Given the description of an element on the screen output the (x, y) to click on. 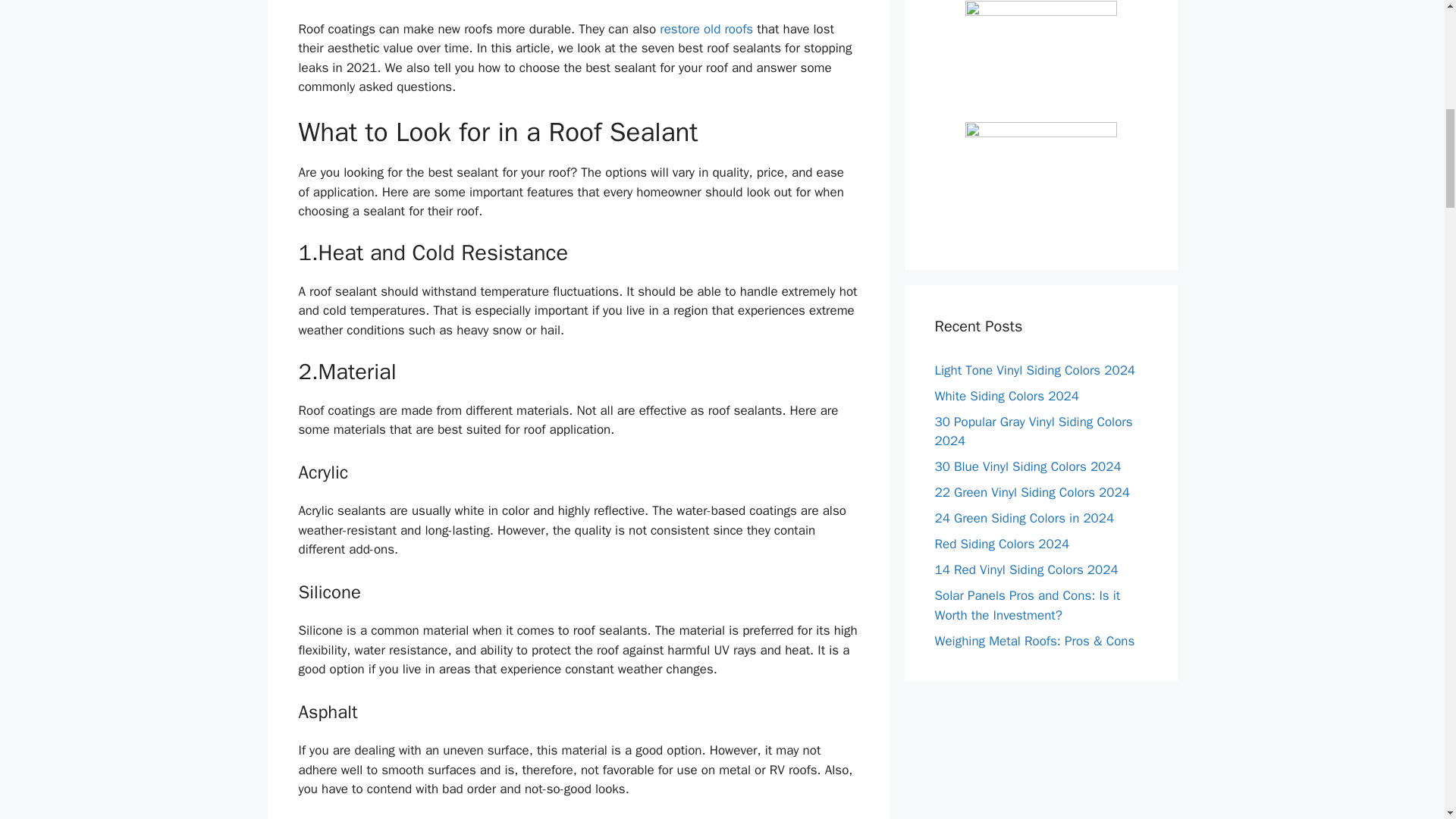
White Siding Colors 2024 (1006, 396)
Red Siding Colors 2024 (1001, 544)
24 Green Siding Colors in 2024 (1023, 518)
restore old roofs (704, 28)
30 Popular Gray Vinyl Siding Colors 2024 (1033, 431)
22 Green Vinyl Siding Colors 2024 (1031, 492)
Light Tone Vinyl Siding Colors 2024 (1034, 370)
Solar Panels Pros and Cons: Is it Worth the Investment? (1026, 605)
14 Red Vinyl Siding Colors 2024 (1026, 569)
30 Blue Vinyl Siding Colors 2024 (1027, 466)
